Given the description of an element on the screen output the (x, y) to click on. 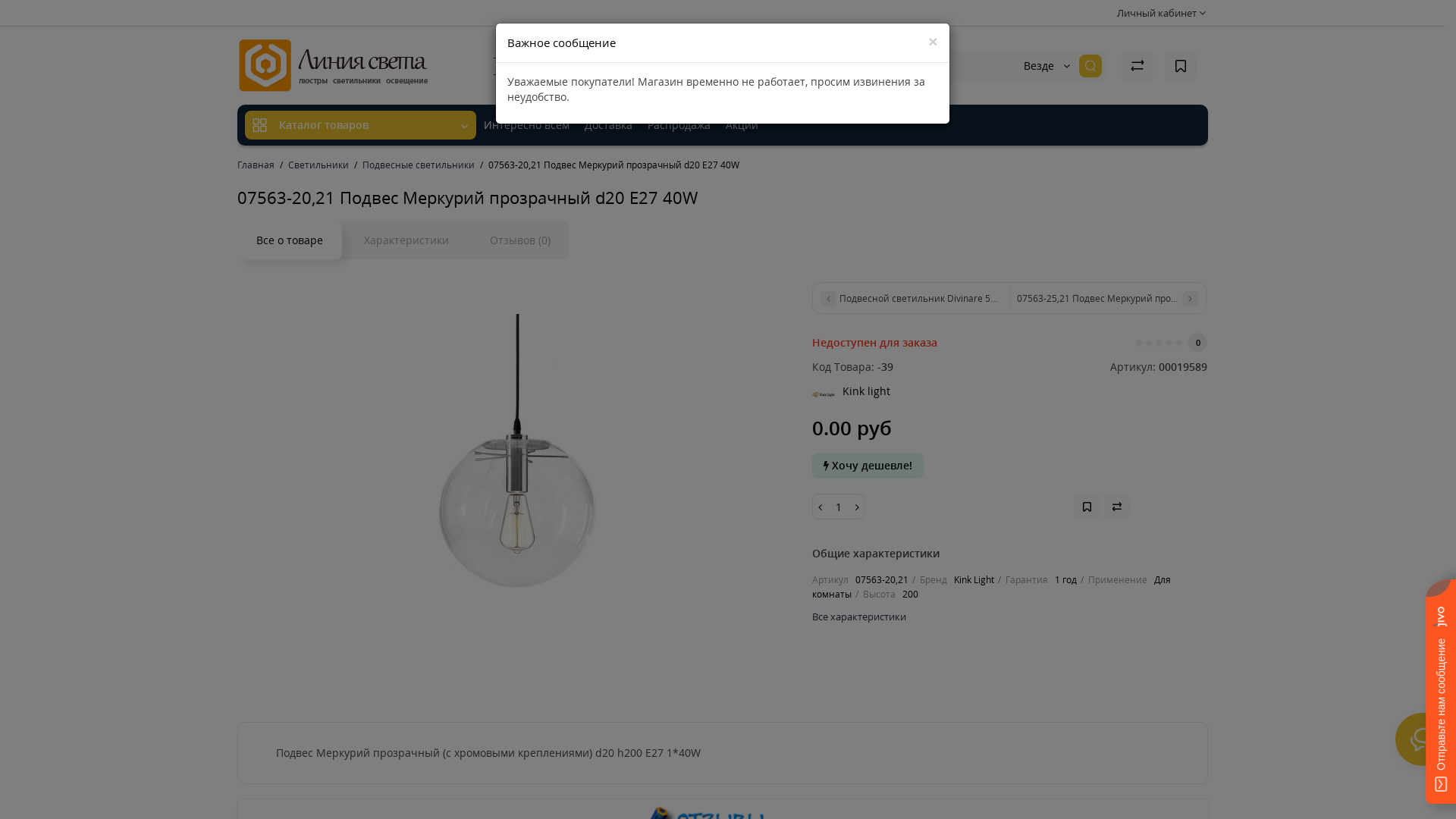
Svetidom.by Element type: hover (332, 65)
0 Element type: text (1197, 342)
+375 (29) 642-40-40 Element type: text (553, 57)
Kink light Element type: hover (823, 394)
Kink light Element type: text (866, 394)
+375 (33) 642-40-40 Element type: text (553, 74)
